Given the description of an element on the screen output the (x, y) to click on. 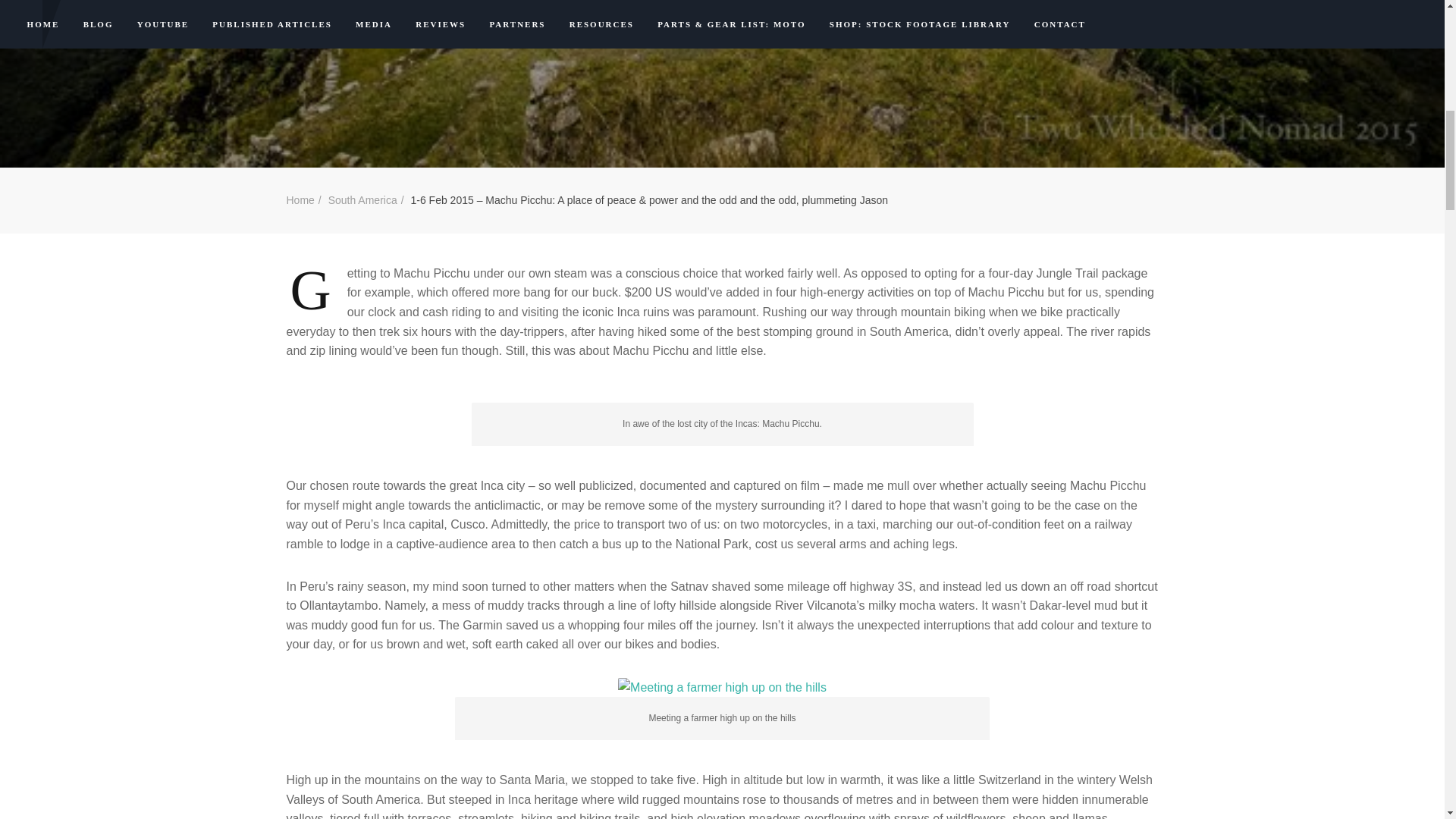
Sign up! (1361, 191)
Home (300, 200)
South America (363, 200)
